Given the description of an element on the screen output the (x, y) to click on. 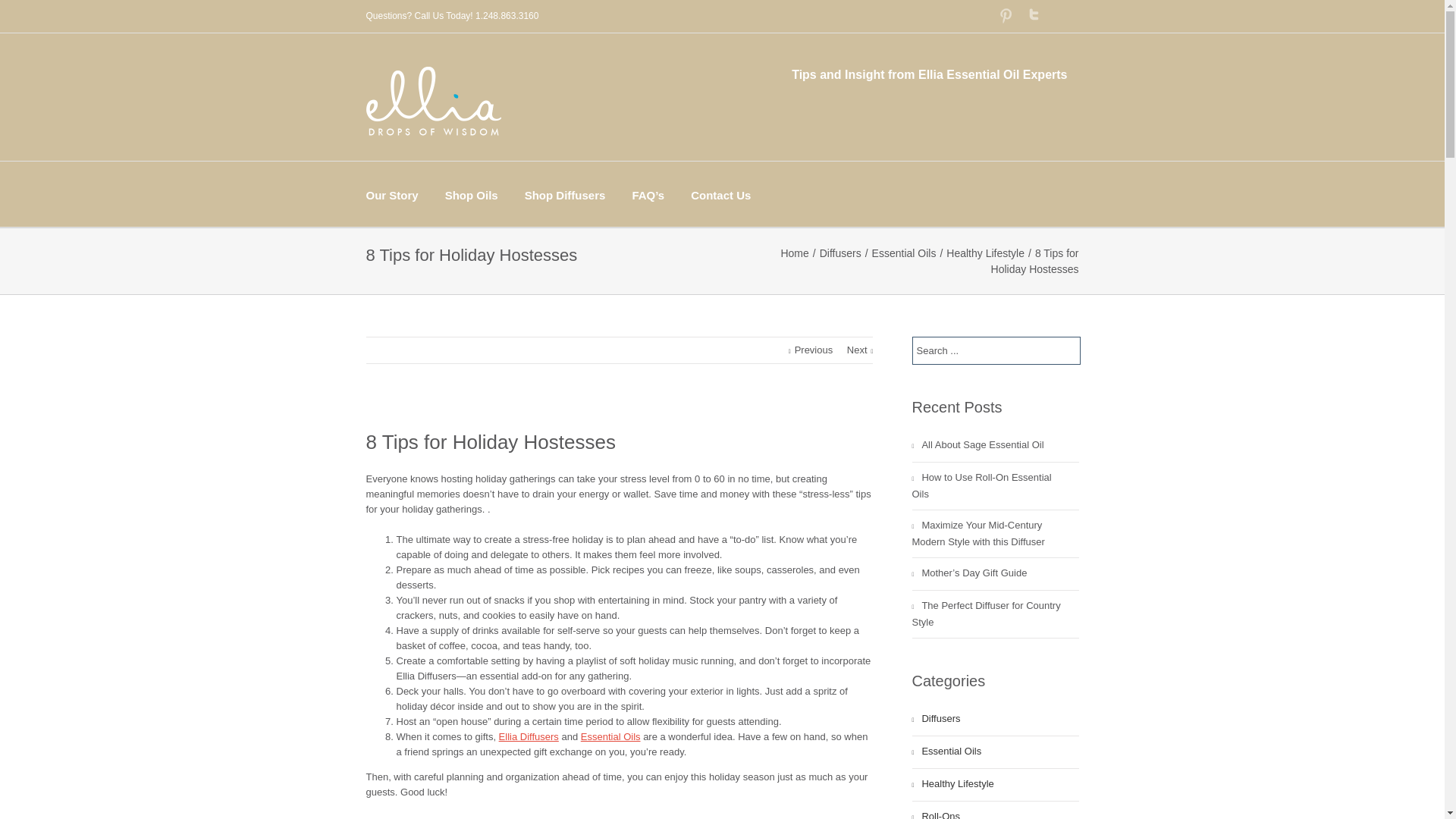
Essential Oils (906, 253)
Previous (810, 349)
Contact Us (720, 193)
Healthy Lifestyle (986, 253)
Healthy Lifestyle (986, 253)
Shop Diffusers (564, 193)
Diffusers (841, 253)
Next (860, 349)
Ellia Diffusers (529, 736)
Essential Oils (906, 253)
8 Tips for Holiday Hostesses (489, 441)
Home (796, 253)
Essential Oils (610, 736)
Diffusers (841, 253)
